Given the description of an element on the screen output the (x, y) to click on. 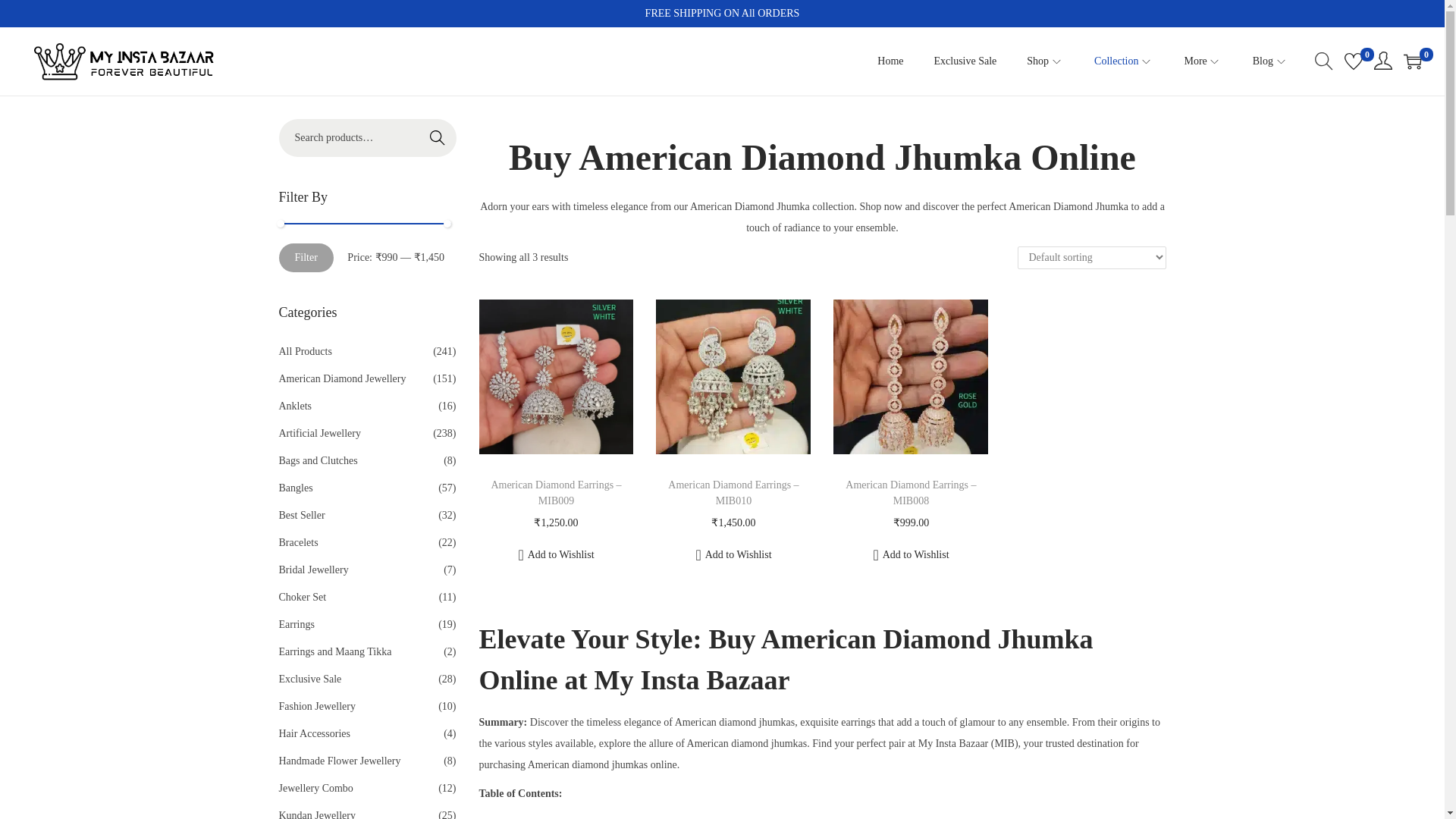
Exclusive Sale (965, 61)
